Given the description of an element on the screen output the (x, y) to click on. 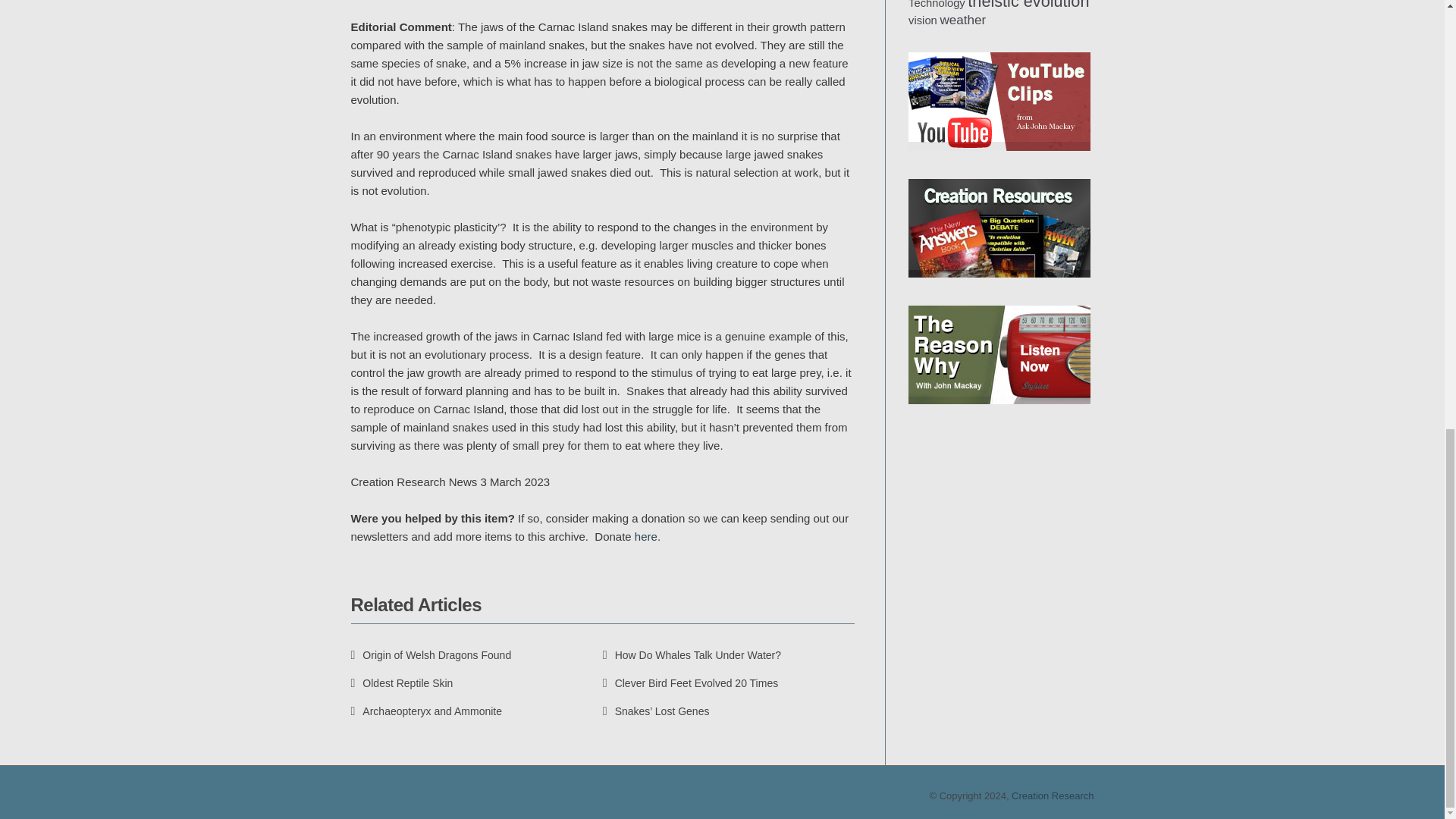
Archaeopteryx and Ammonite (426, 711)
Origin of Welsh Dragons Found (430, 654)
Oldest Reptile Skin (401, 683)
Oldest Reptile Skin (401, 683)
Clever Bird Feet Evolved 20 Times (689, 683)
here (646, 535)
Clever Bird Feet Evolved 20 Times (689, 683)
Origin of Welsh Dragons Found (430, 654)
How Do Whales Talk Under Water?  (693, 654)
Archaeopteryx and Ammonite (426, 711)
